Given the description of an element on the screen output the (x, y) to click on. 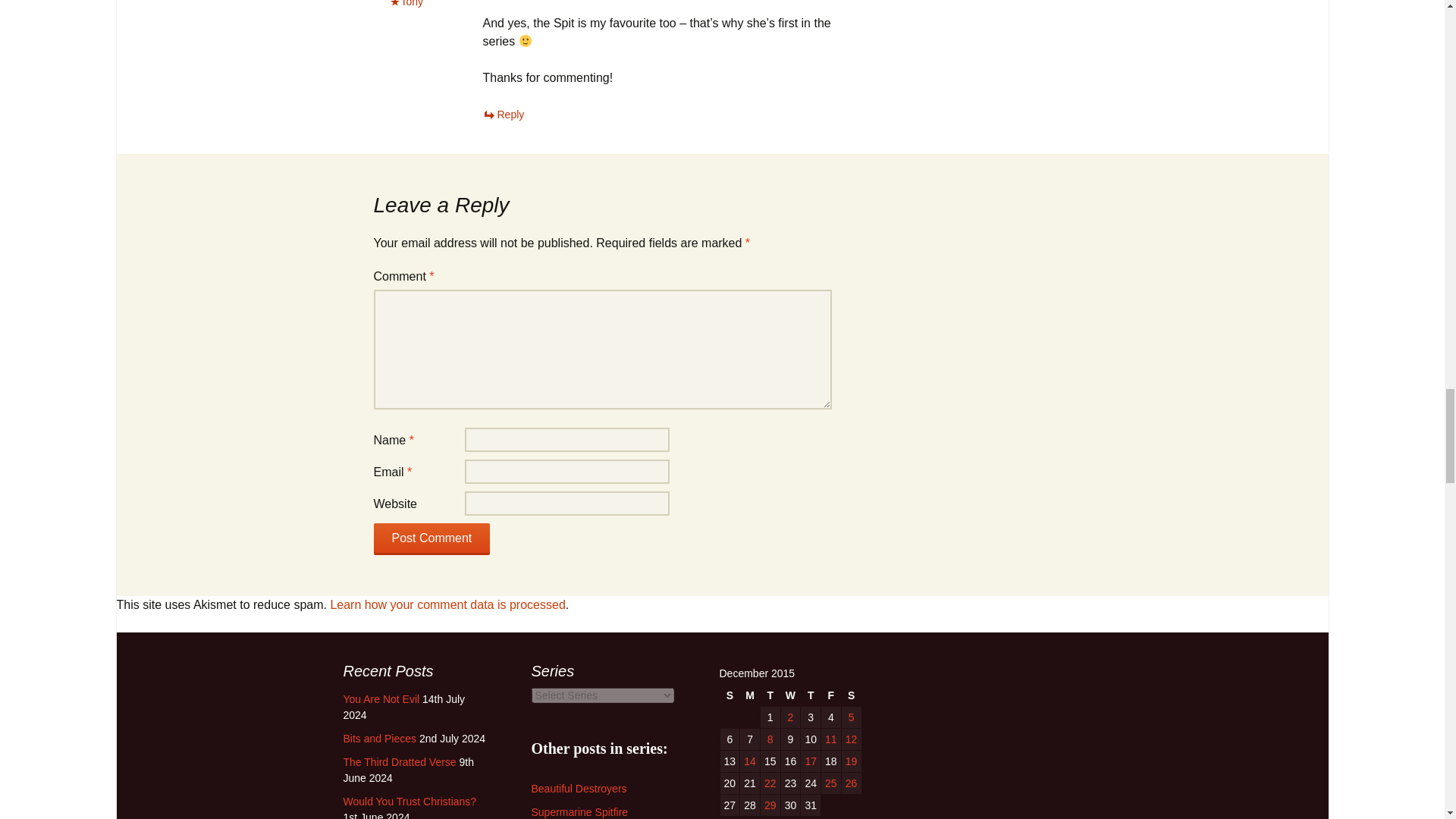
Reply (502, 114)
Post Comment (430, 539)
Post Comment (430, 539)
Learn how your comment data is processed (447, 604)
